Given the description of an element on the screen output the (x, y) to click on. 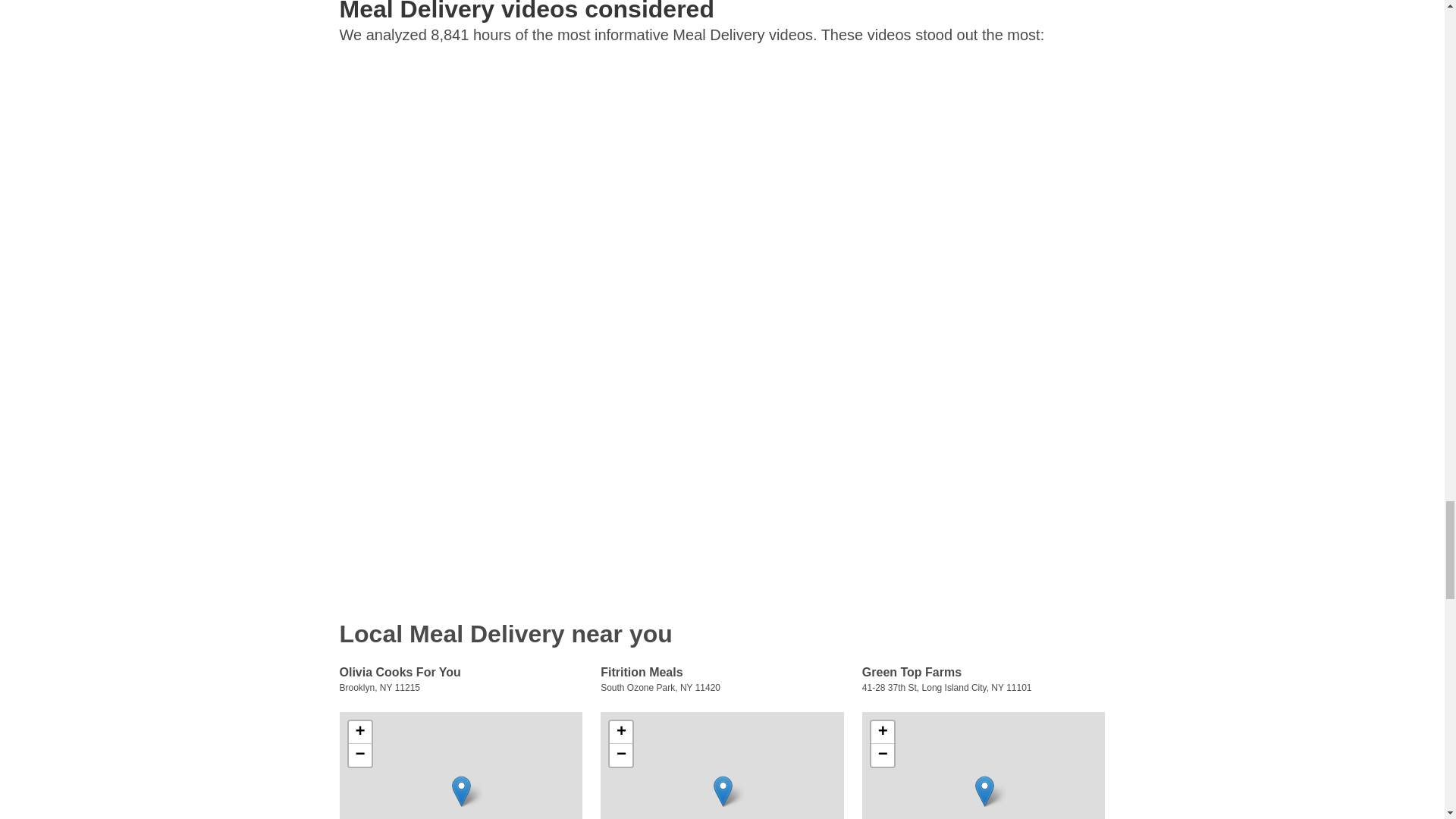
Zoom in (360, 732)
Zoom out (360, 754)
Zoom out (620, 754)
Zoom in (881, 732)
Zoom in (620, 732)
Zoom out (881, 754)
